Given the description of an element on the screen output the (x, y) to click on. 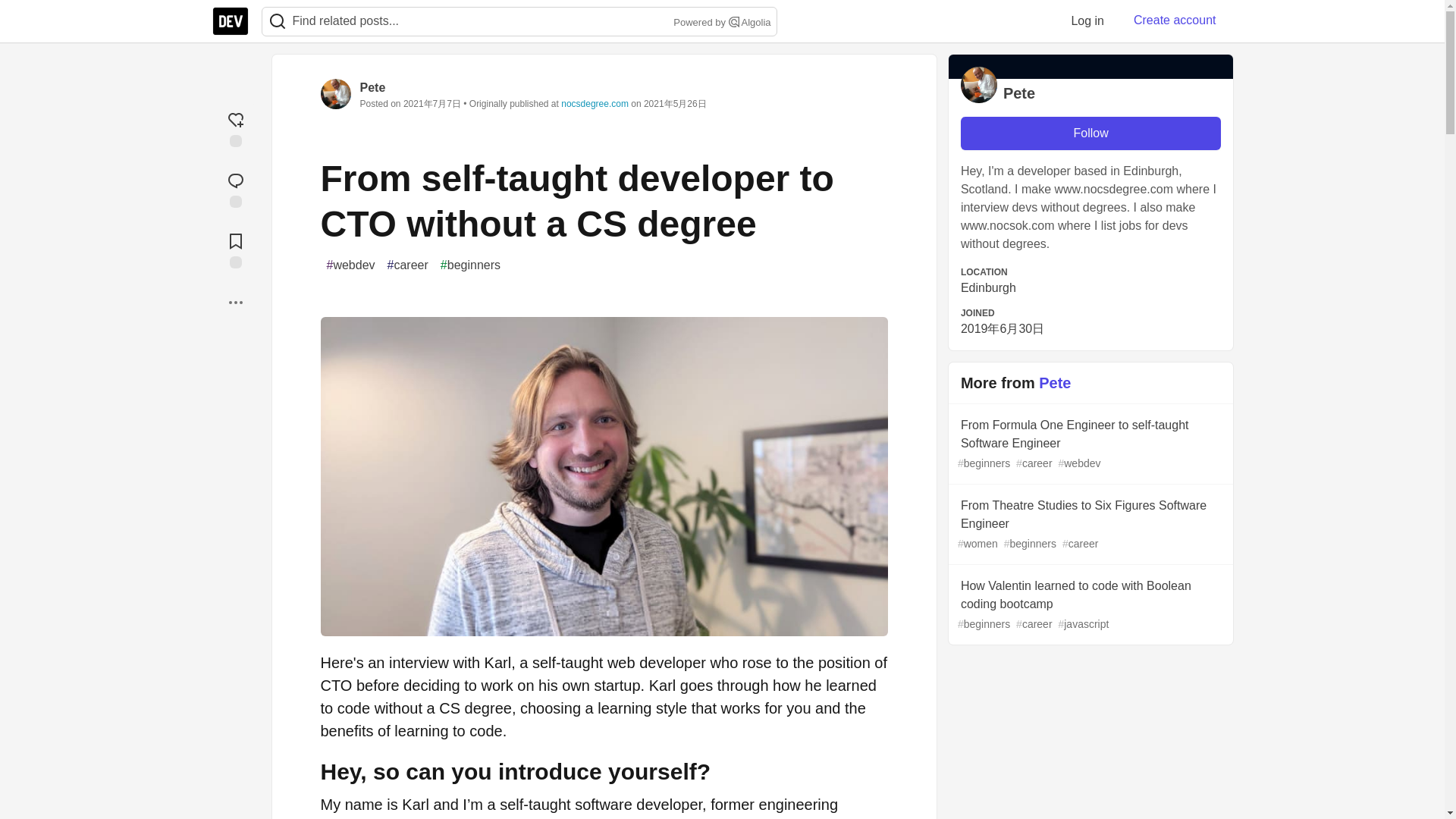
Log in (1087, 20)
nocsdegree.com (594, 103)
Pete (372, 87)
Powered by Search Algolia (720, 22)
Search (277, 21)
Search (734, 21)
More... (234, 302)
Create account (1174, 20)
Search (276, 21)
More... (234, 302)
